Given the description of an element on the screen output the (x, y) to click on. 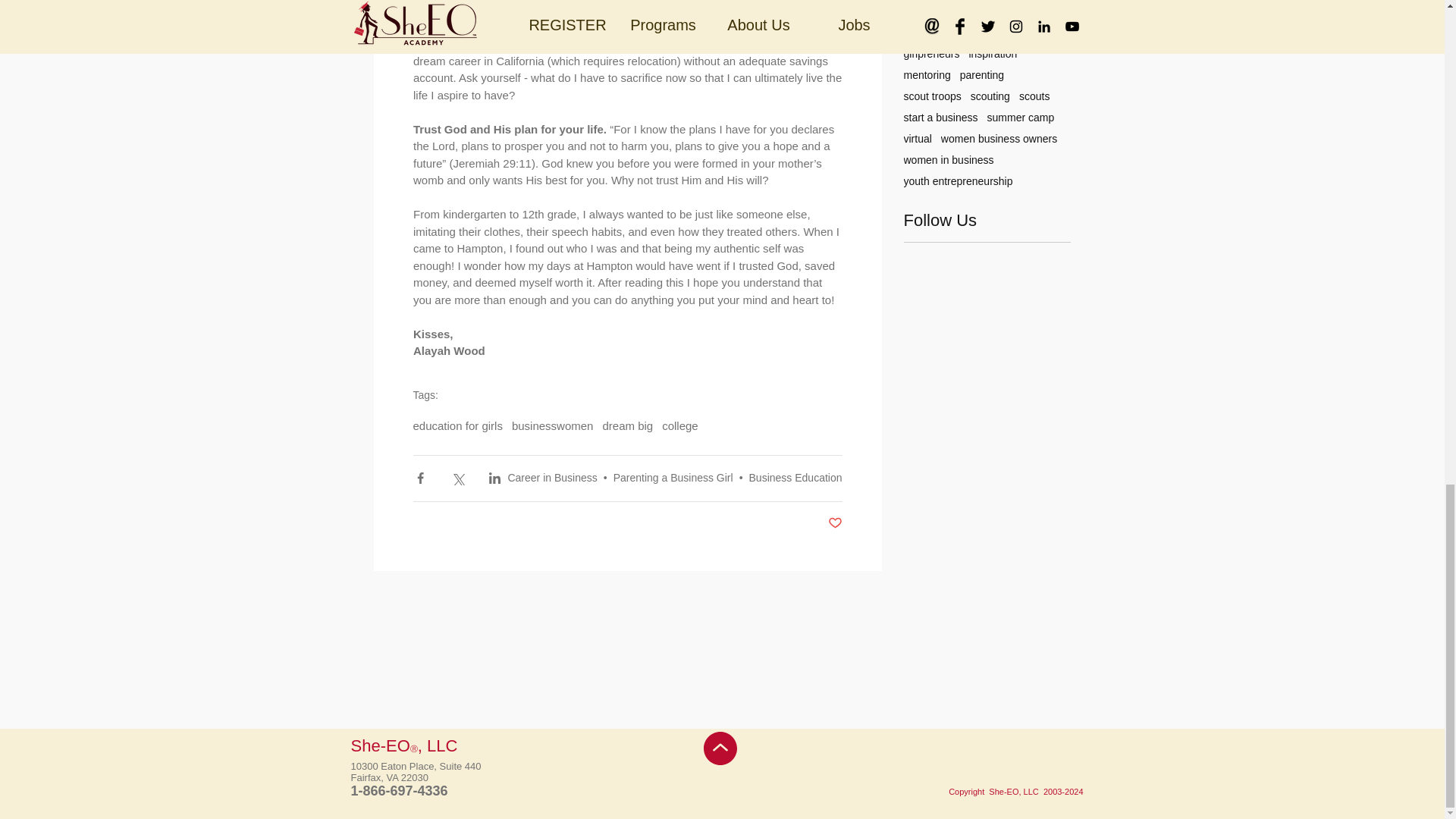
dream big (627, 425)
Career in Business (551, 477)
Post not marked as liked (835, 523)
Business Education (796, 477)
education for girls (457, 425)
college (680, 425)
businesswomen (553, 425)
Parenting a Business Girl (672, 477)
